Given the description of an element on the screen output the (x, y) to click on. 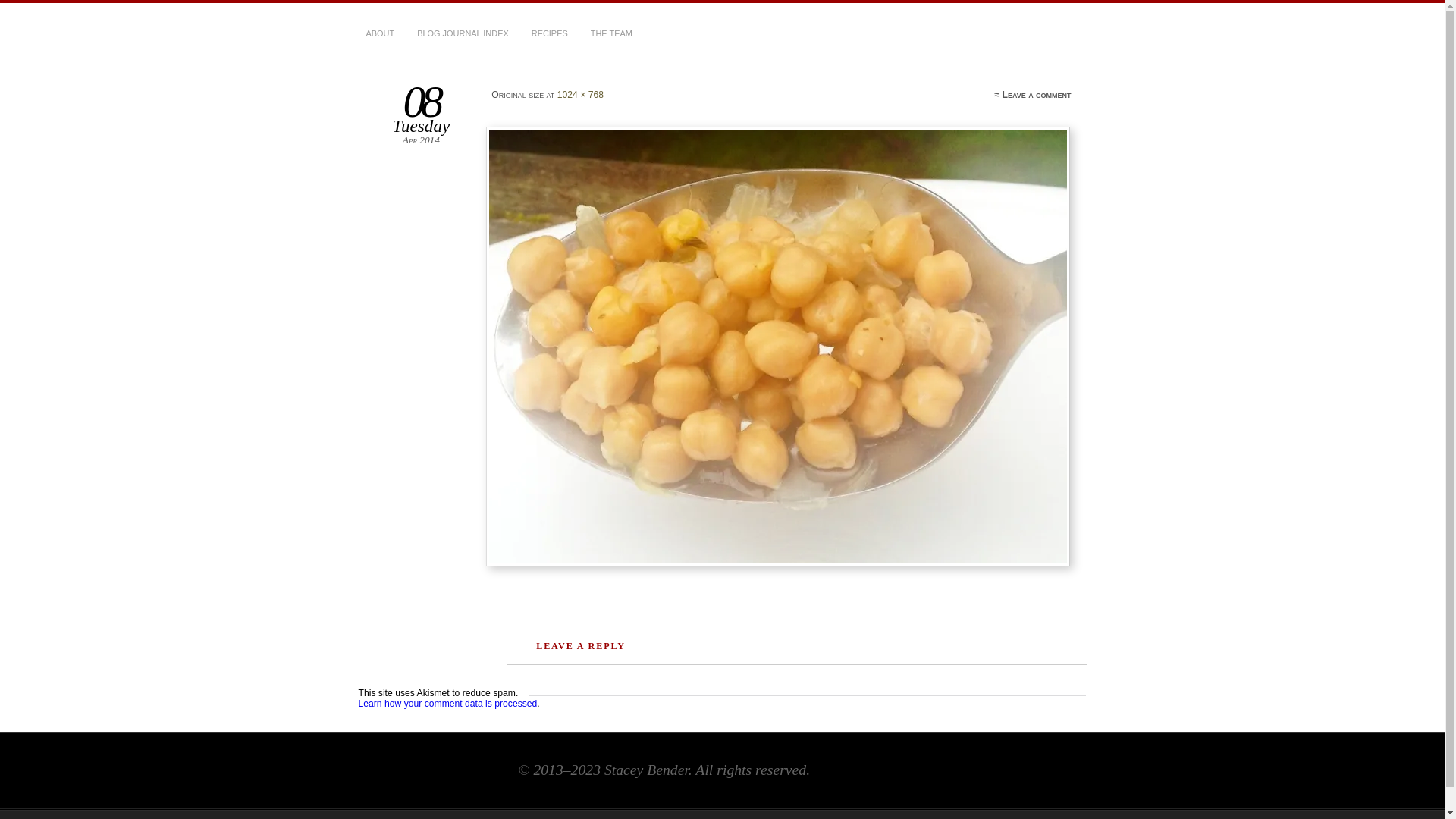
BLOG JOURNAL INDEX Element type: text (462, 33)
RECIPES Element type: text (549, 33)
20140408-223116.jpg Element type: hover (780, 346)
ABOUT Element type: text (379, 33)
Leave a comment Element type: text (1036, 94)
10 Legs in the Kitchen Element type: text (494, 73)
Learn how your comment data is processed Element type: text (446, 703)
Comment Form Element type: hover (807, 695)
THE TEAM Element type: text (611, 33)
